Given the description of an element on the screen output the (x, y) to click on. 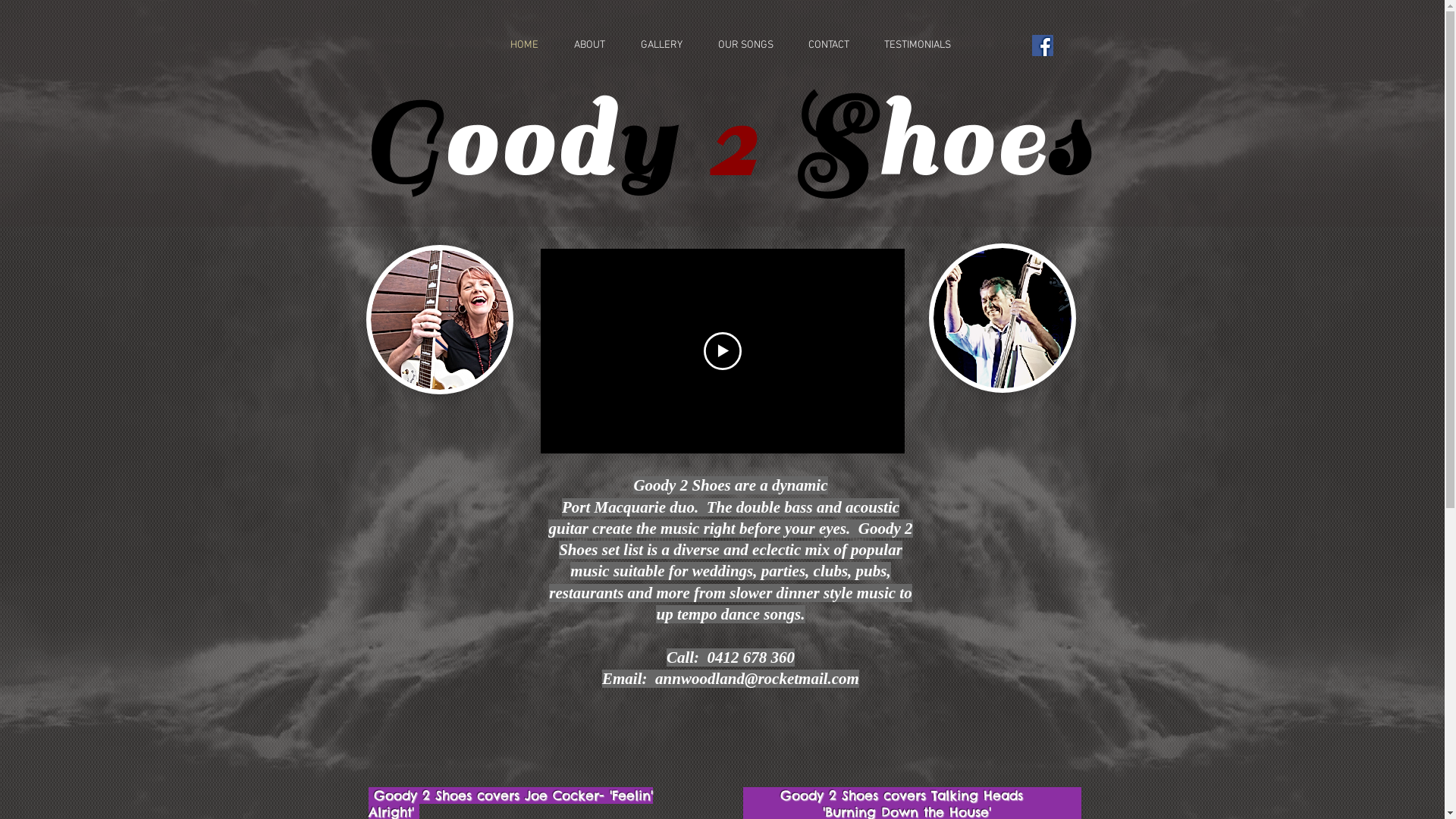
G Element type: text (401, 141)
y Element type: text (646, 141)
hoe Element type: text (960, 141)
GALLERY Element type: text (652, 45)
CONTACT Element type: text (820, 45)
TESTIMONIALS Element type: text (909, 45)
2 Element type: text (732, 141)
OUR SONGS Element type: text (736, 45)
s Element type: text (1068, 141)
ood Element type: text (528, 141)
annwoodland@rocketmail.com Element type: text (757, 678)
S Element type: text (831, 141)
ABOUT Element type: text (580, 45)
HOME Element type: text (515, 45)
